Given the description of an element on the screen output the (x, y) to click on. 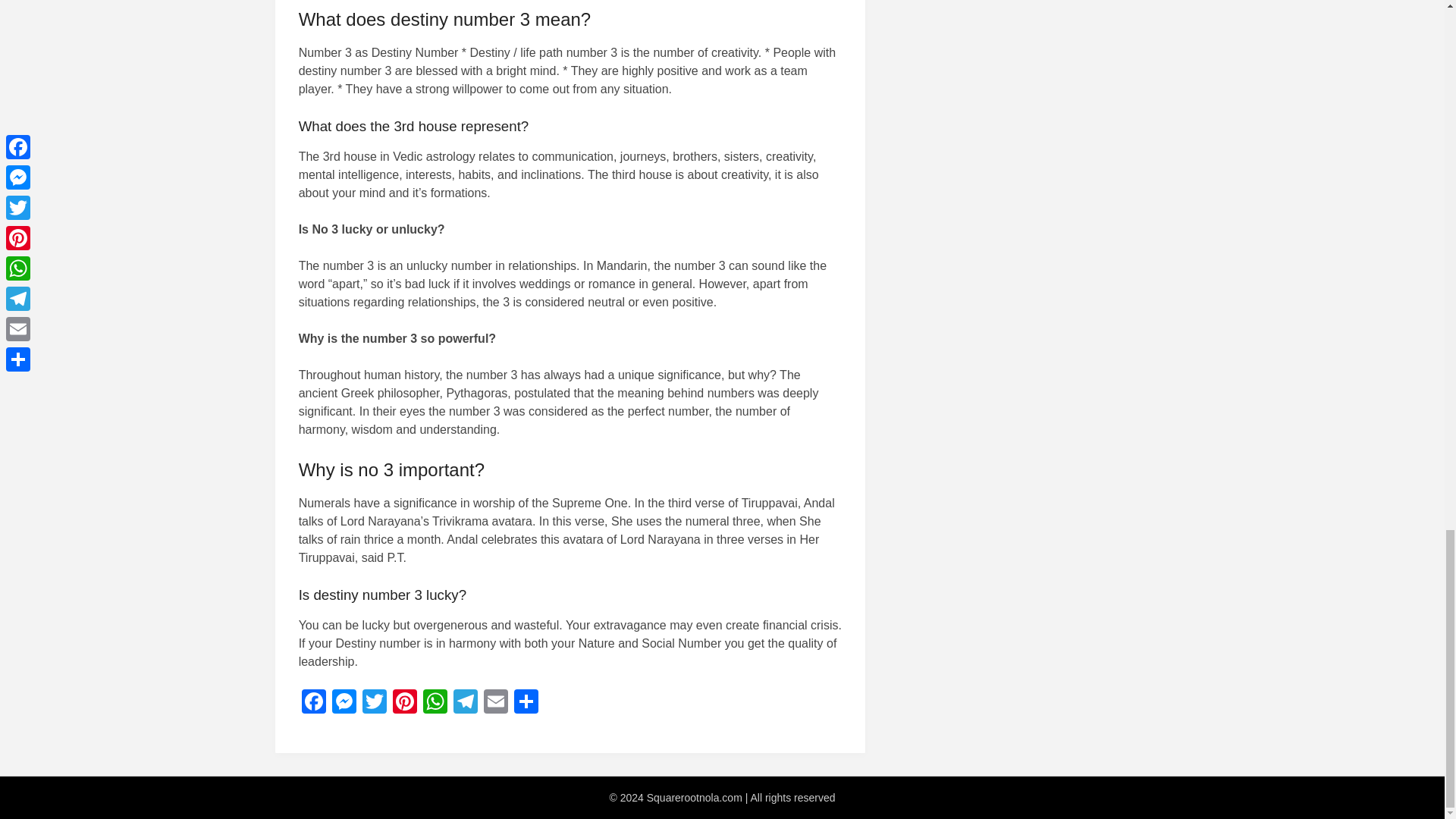
Facebook (313, 703)
Email (495, 703)
Twitter (374, 703)
Messenger (344, 703)
Telegram (464, 703)
Messenger (344, 703)
Twitter (374, 703)
WhatsApp (434, 703)
WhatsApp (434, 703)
Pinterest (405, 703)
